Given the description of an element on the screen output the (x, y) to click on. 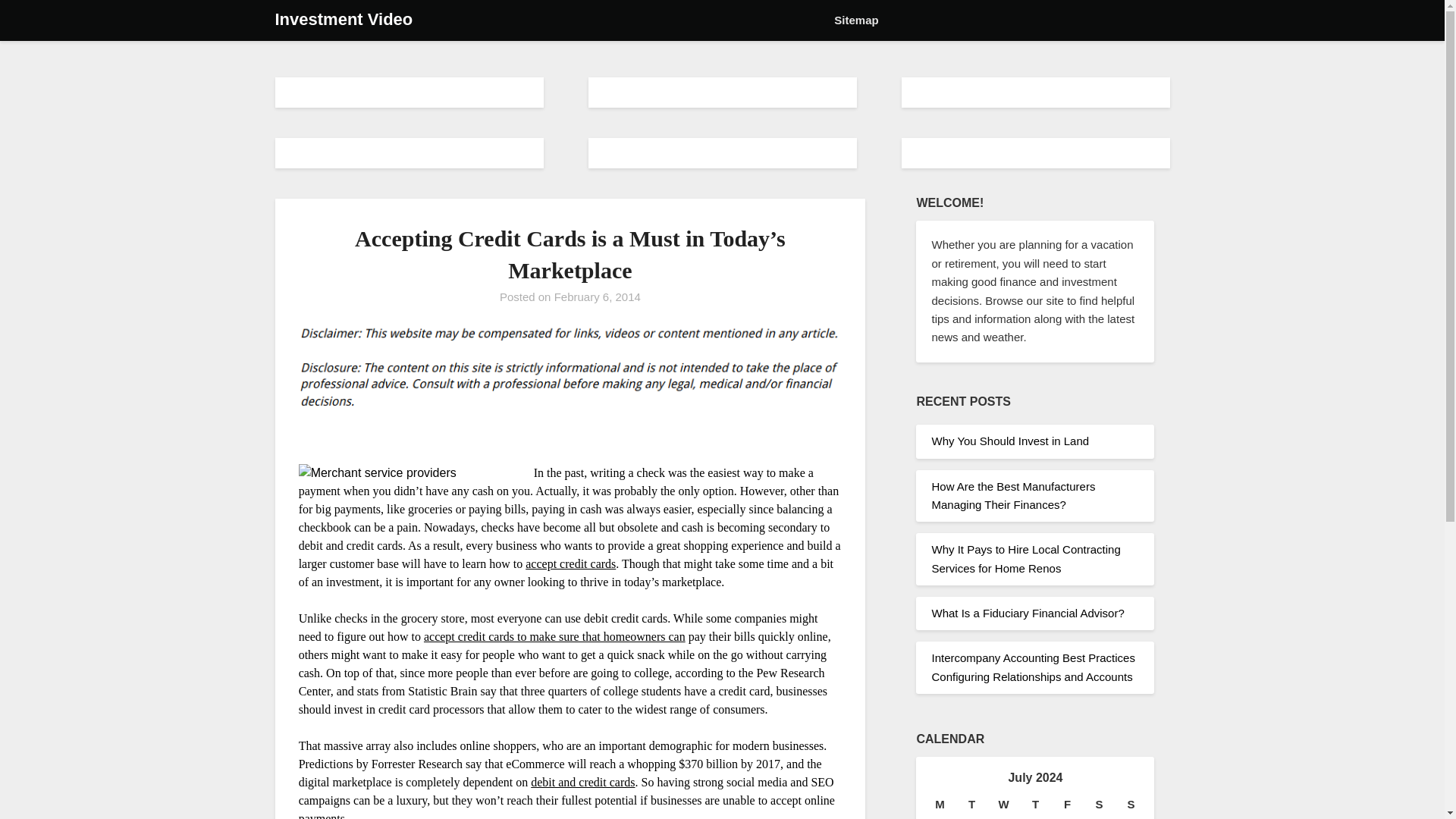
Sitemap (855, 20)
The things I like (554, 635)
accept credit cards (570, 563)
February 6, 2014 (597, 296)
Sunday (1131, 804)
How Are the Best Manufacturers Managing Their Finances? (1012, 494)
Why You Should Invest in Land (1010, 440)
Thursday (1035, 804)
Monday (939, 804)
accept credit cards to make sure that homeowners can (554, 635)
Tuesday (971, 804)
debit and credit cards (582, 781)
Learn more about Payments processing (582, 781)
What Is a Fiduciary Financial Advisor? (1027, 612)
